Given the description of an element on the screen output the (x, y) to click on. 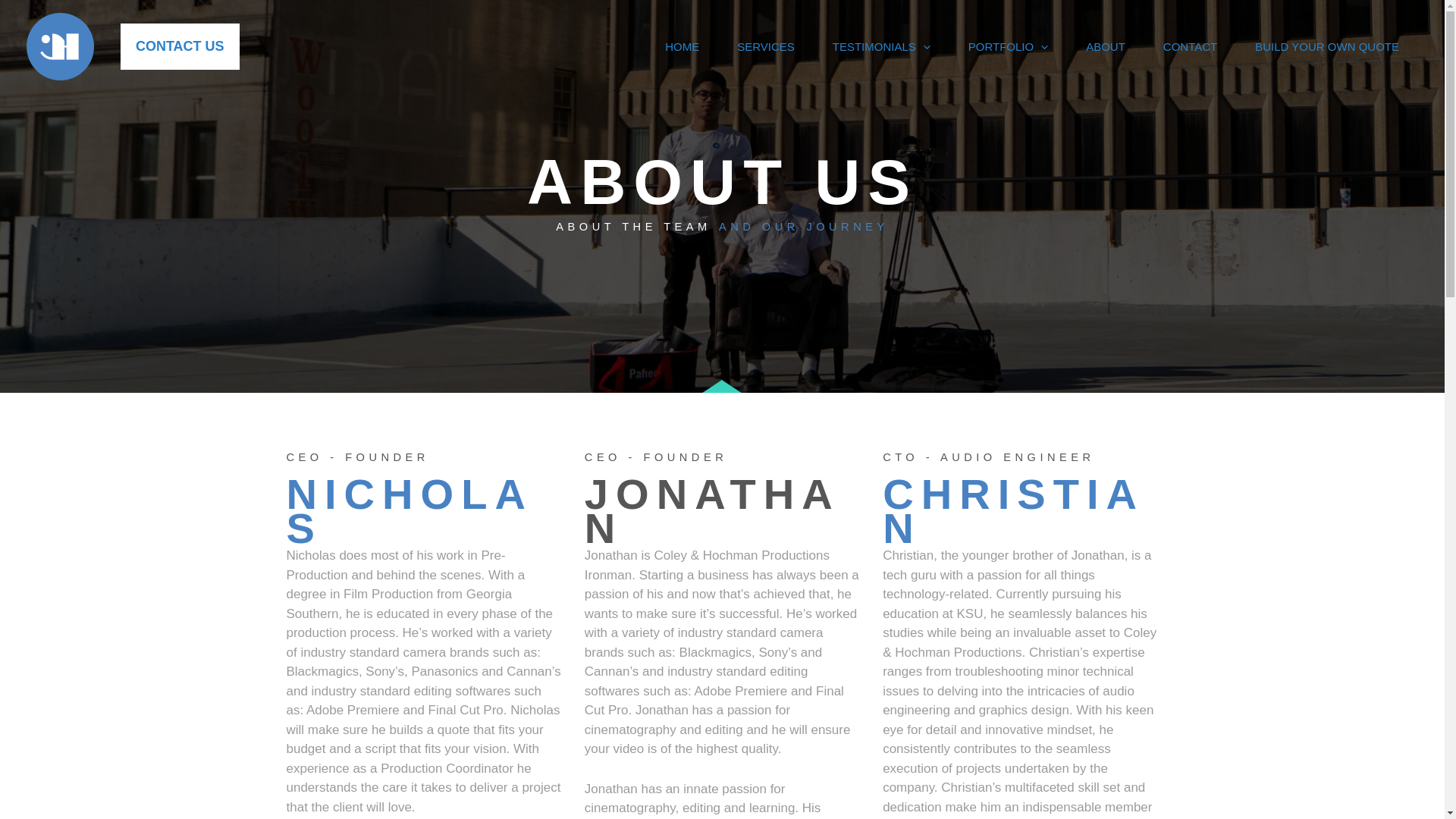
HOME (681, 46)
PORTFOLIO (1008, 46)
CONTACT US (174, 45)
ABOUT (1105, 46)
SERVICES (765, 46)
TESTIMONIALS (881, 46)
CONTACT (1190, 46)
BUILD YOUR OWN QUOTE (1327, 46)
